Given the description of an element on the screen output the (x, y) to click on. 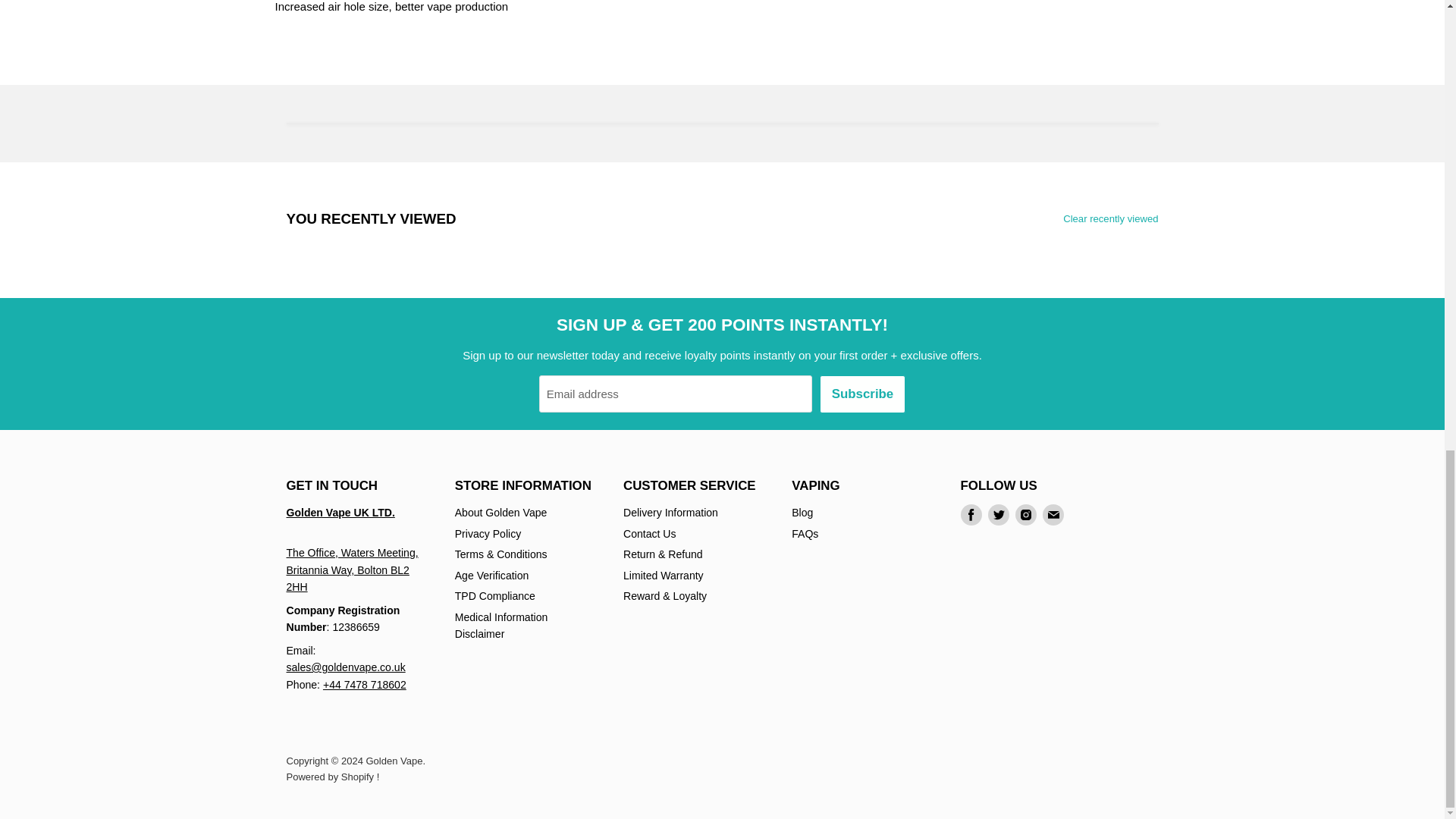
Instagram (1024, 514)
Twitter (998, 514)
Facebook (970, 514)
Email (1052, 514)
